Given the description of an element on the screen output the (x, y) to click on. 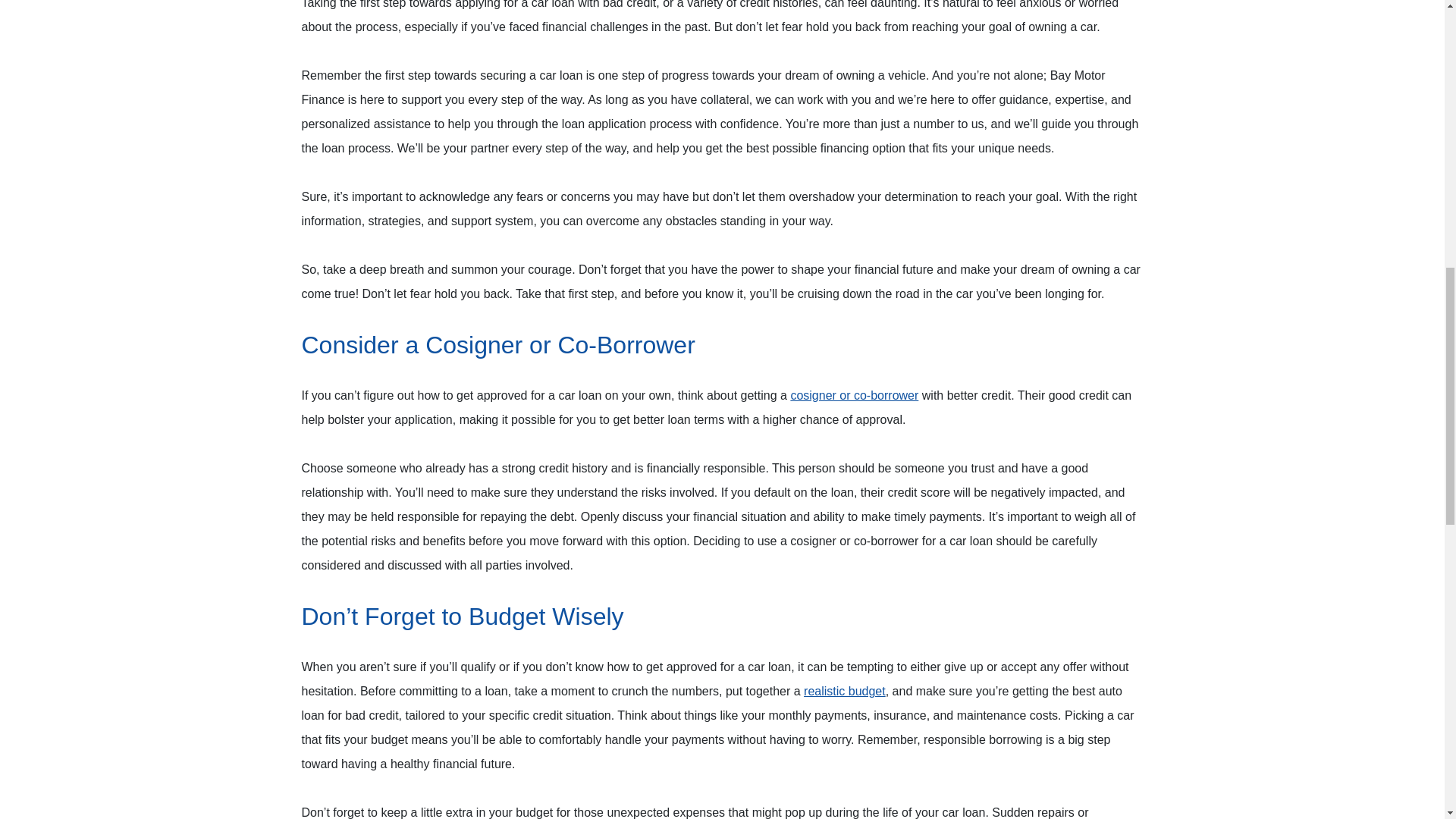
cosigner or co-borrower (854, 395)
realistic budget (844, 690)
